Given the description of an element on the screen output the (x, y) to click on. 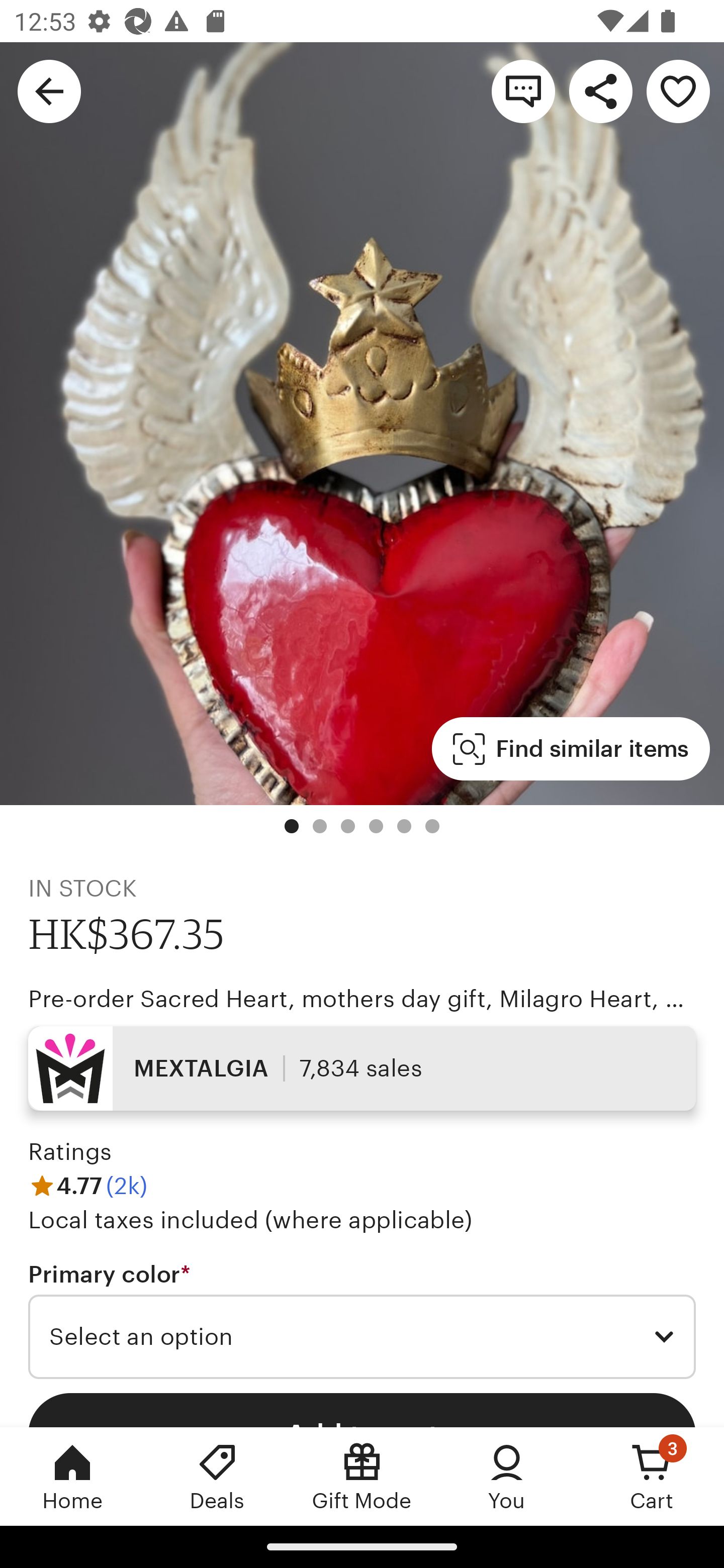
Navigate up (49, 90)
Contact shop (523, 90)
Share (600, 90)
Find similar items (571, 748)
MEXTALGIA 7,834 sales (361, 1067)
Ratings (70, 1151)
4.77 (2k) (87, 1185)
Primary color * Required Select an option (361, 1319)
Select an option (361, 1336)
Deals (216, 1475)
Gift Mode (361, 1475)
You (506, 1475)
Cart, 3 new notifications Cart (651, 1475)
